Given the description of an element on the screen output the (x, y) to click on. 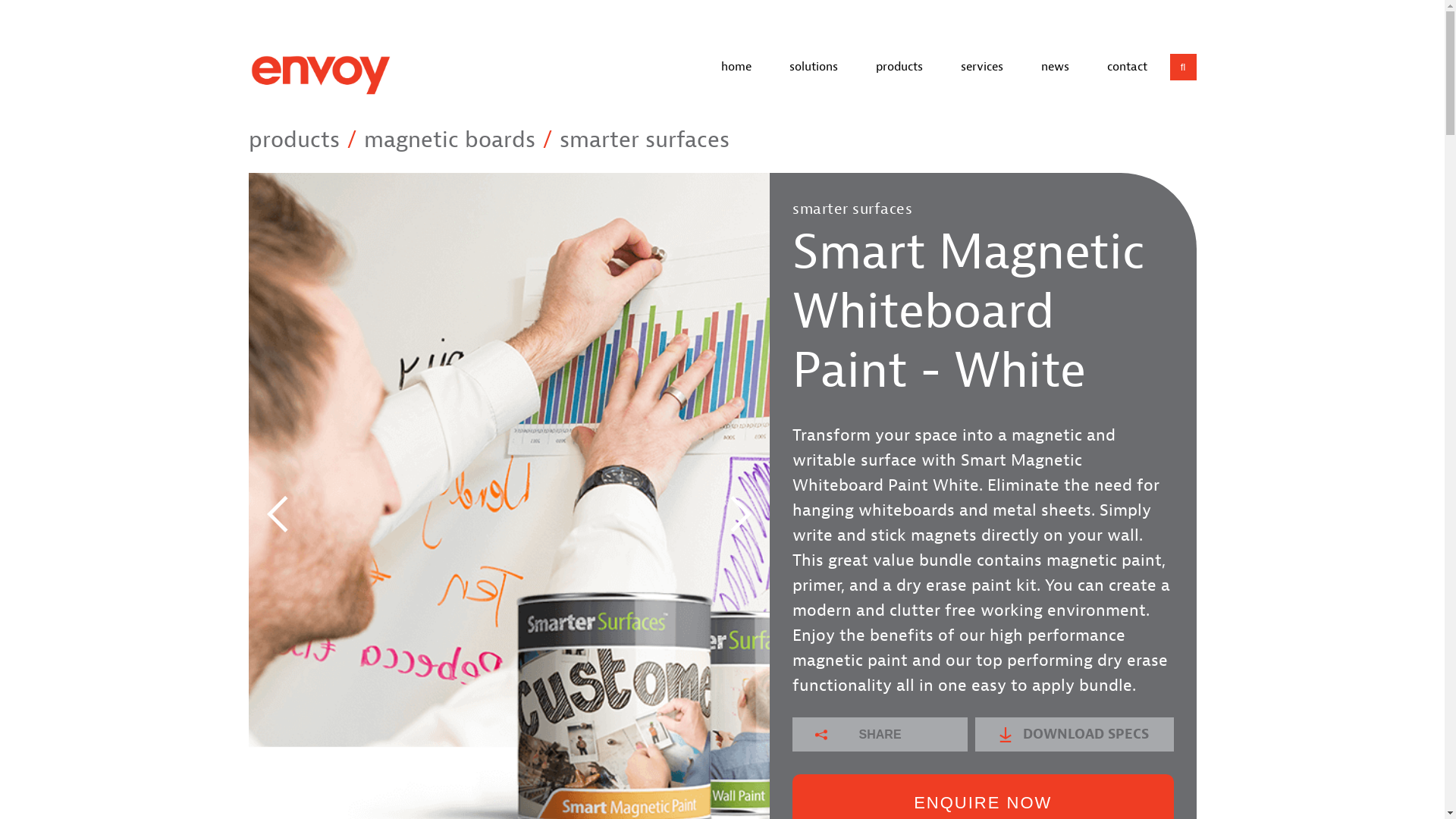
smarter surfaces Element type: text (644, 139)
contact Element type: text (1126, 66)
solutions Element type: text (813, 66)
DOWNLOAD SPECS Element type: text (1074, 734)
magnetic boards Element type: text (449, 139)
products Element type: text (898, 66)
news Element type: text (1055, 66)
services Element type: text (981, 66)
home Element type: text (736, 66)
